Given the description of an element on the screen output the (x, y) to click on. 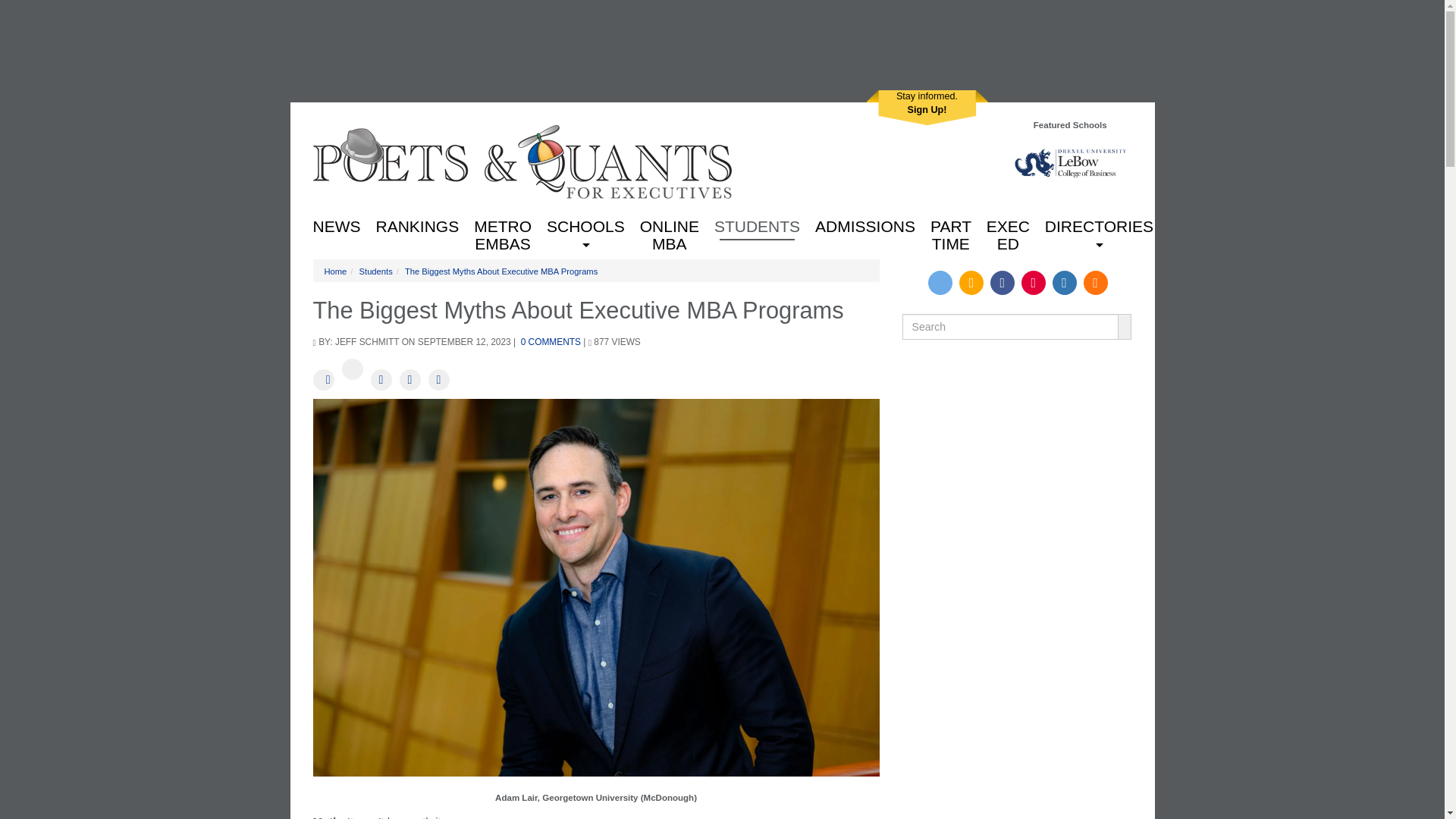
METRO EMBAS (501, 224)
DIRECTORIES (1098, 224)
News (336, 224)
STUDENTS (757, 224)
ADMISSIONS (865, 224)
RANKINGS (926, 107)
PART TIME (417, 224)
Home (950, 224)
Schools (521, 160)
Rankings (584, 224)
Register (417, 224)
NEWS (926, 107)
EXEC ED (336, 224)
Metro EMBAs (1007, 224)
